Given the description of an element on the screen output the (x, y) to click on. 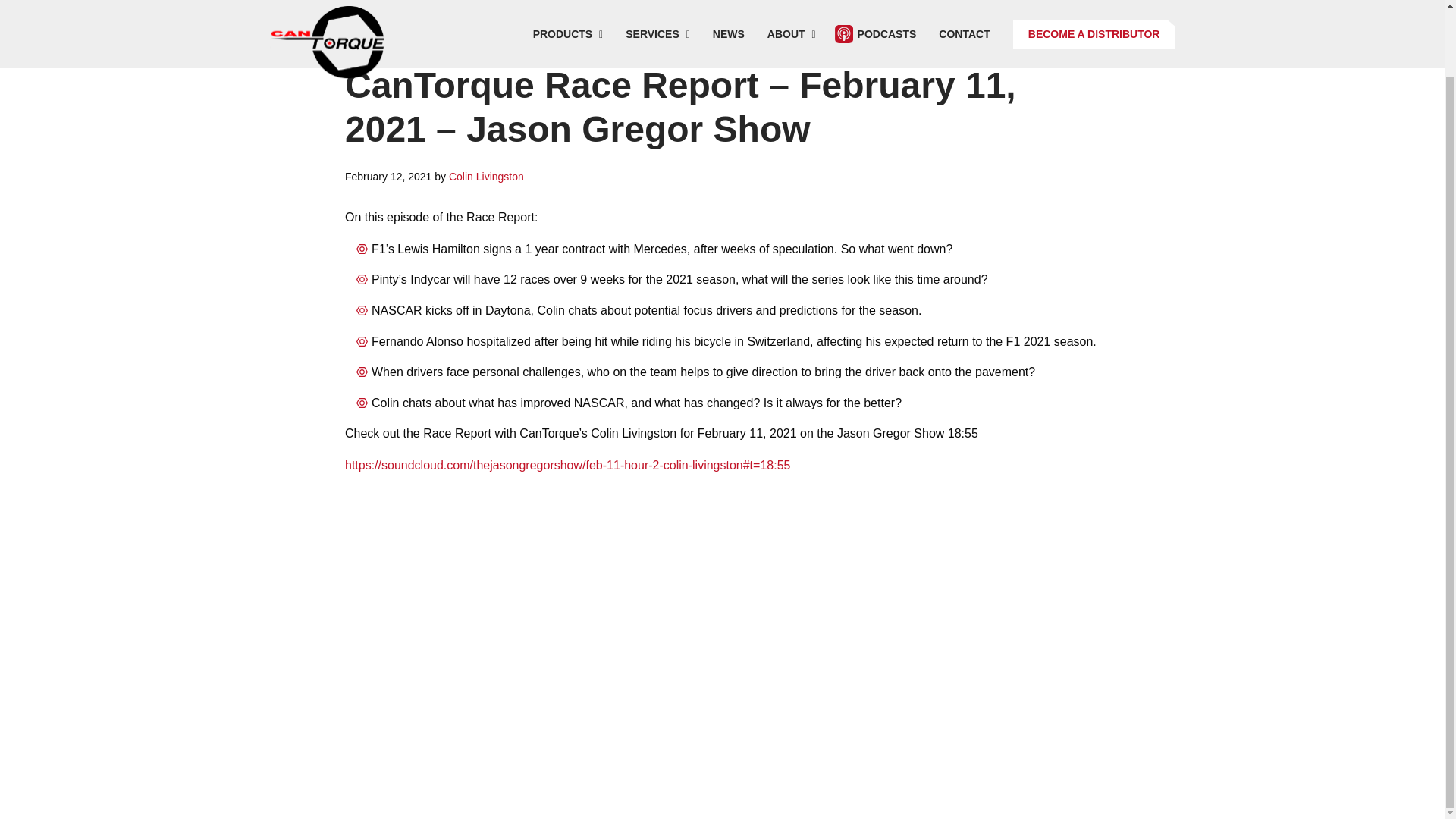
Posts by Colin Livingston (486, 176)
